Given the description of an element on the screen output the (x, y) to click on. 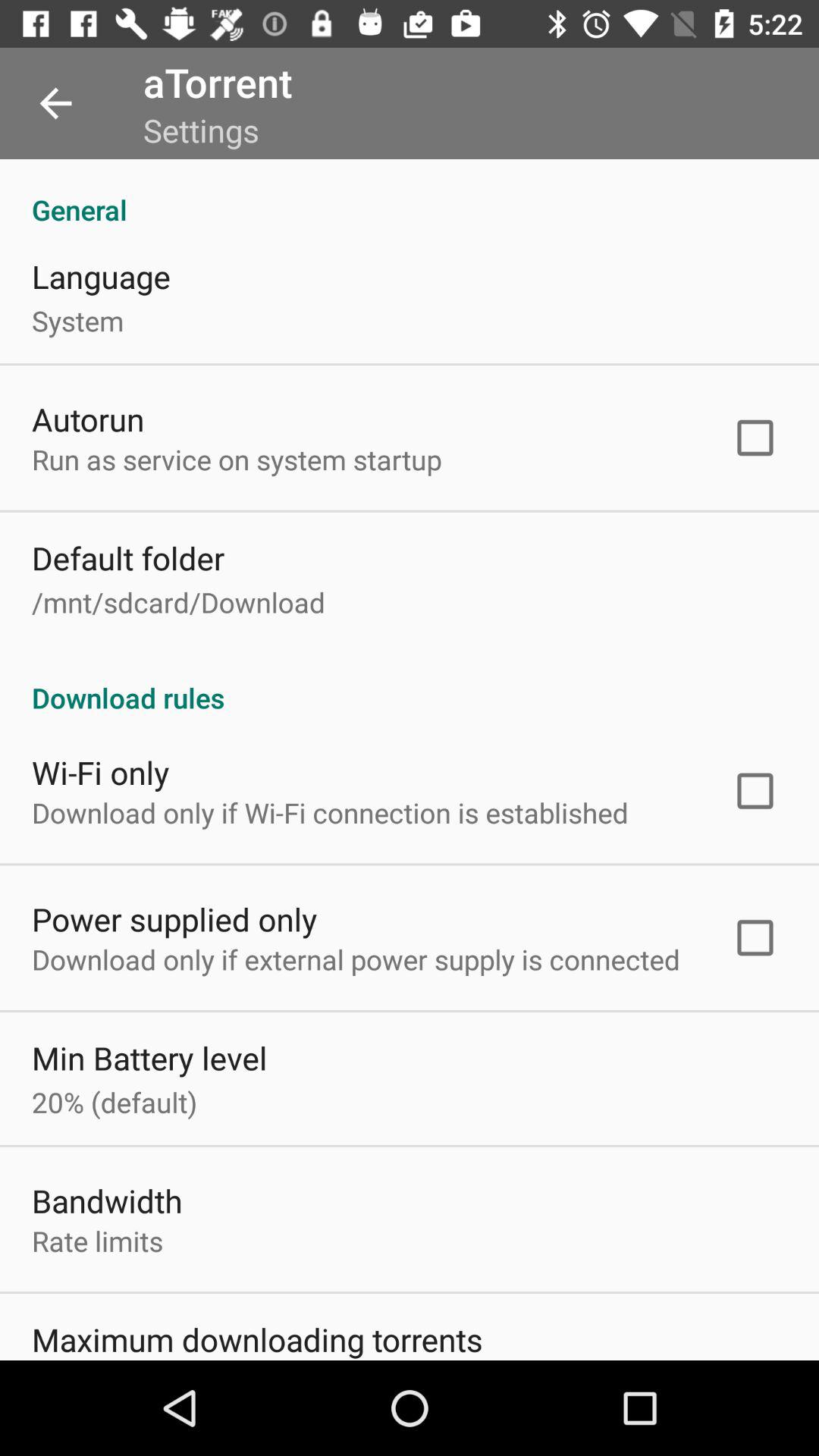
click icon above /mnt/sdcard/download item (127, 557)
